Given the description of an element on the screen output the (x, y) to click on. 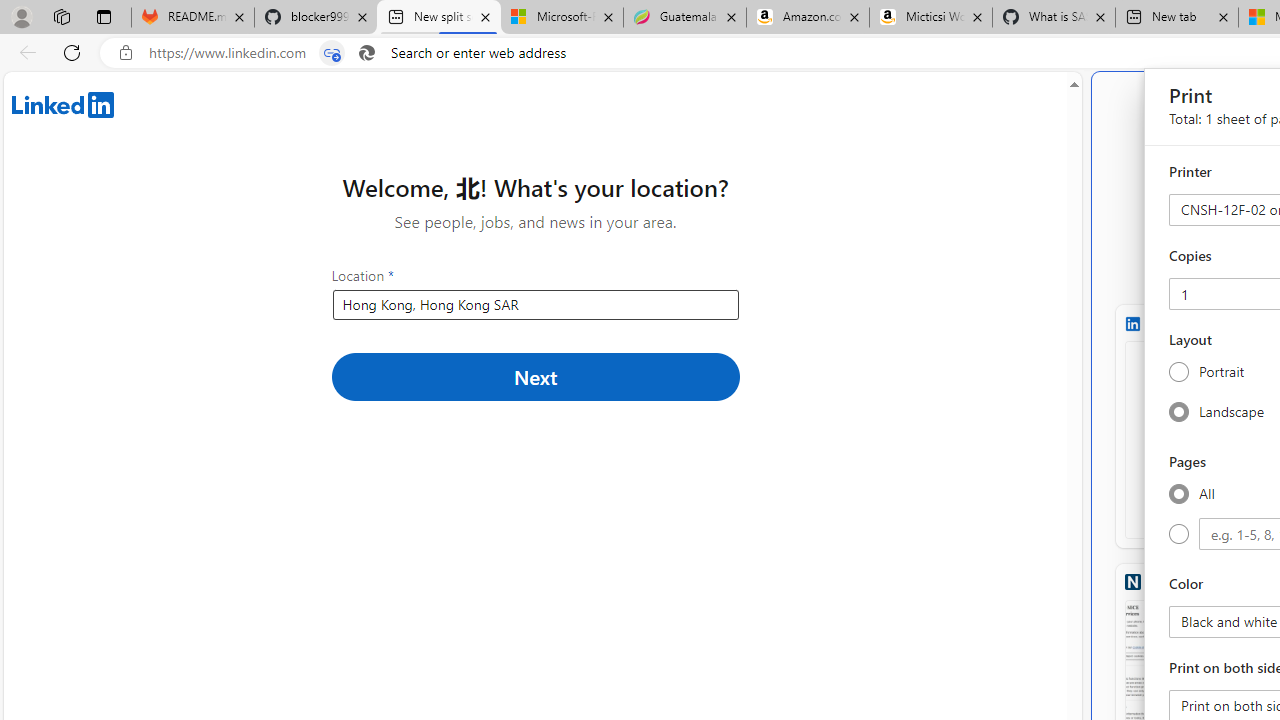
All (1178, 493)
Landscape (1178, 411)
Custom (1178, 534)
Portrait (1178, 372)
